Given the description of an element on the screen output the (x, y) to click on. 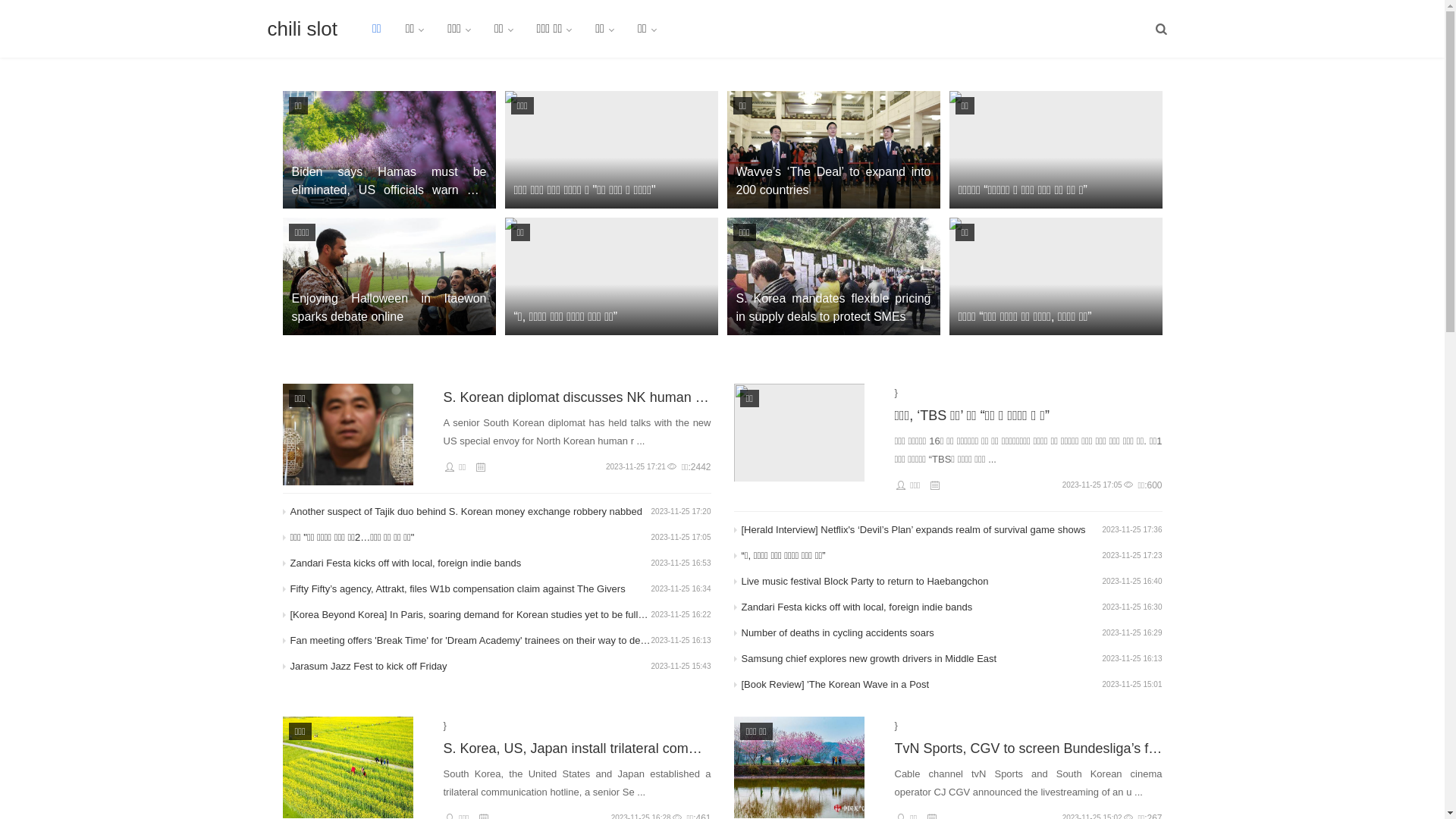
Samsung chief explores new growth drivers in Middle East Element type: text (921, 658)
S. Element type: hover (347, 767)
[Book Review] 'The Korean Wave in a Post Element type: text (921, 684)
Zandari Festa kicks off with local, foreign indie bands Element type: text (469, 563)
Jarasum Jazz Fest to kick off Friday Element type: text (469, 666)
Number of deaths in cycling accidents soars Element type: text (921, 633)
Enjoying Halloween in Itaewon sparks debate online Element type: text (388, 276)
Zandari Festa kicks off with local, foreign indie bands Element type: text (921, 607)
Live music festival Block Party to return to Haebangchon Element type: text (921, 581)
TvN Element type: hover (799, 767)
S. Element type: hover (347, 434)
S. Korean diplomat discusses NK human rights with US envoy Element type: text (576, 397)
chili slot Element type: text (301, 28)
